Given the description of an element on the screen output the (x, y) to click on. 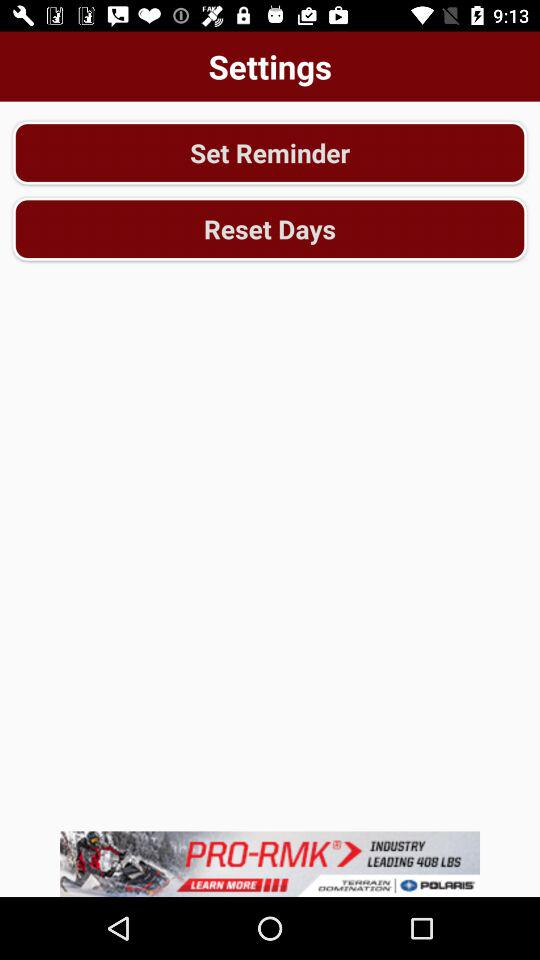
advertisement page (270, 864)
